Given the description of an element on the screen output the (x, y) to click on. 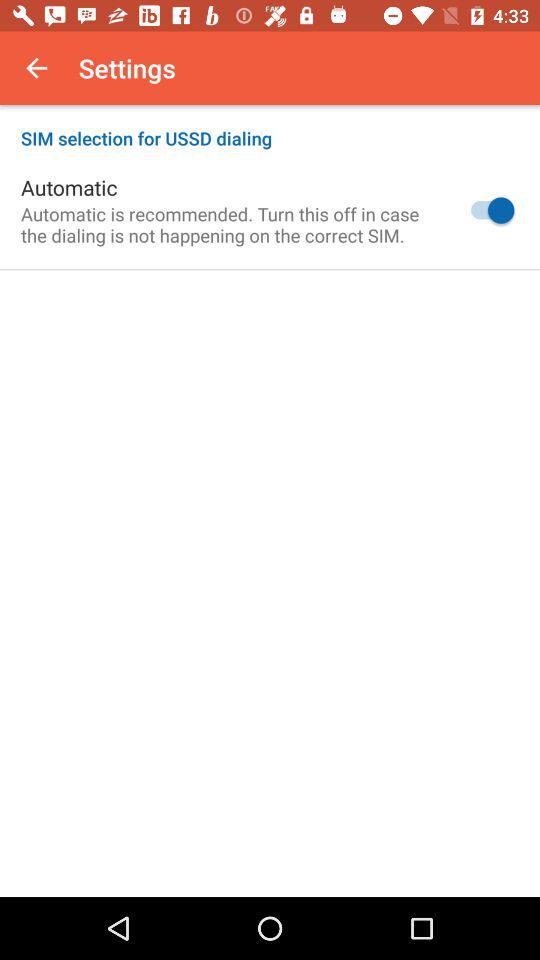
turn on icon to the left of settings item (36, 68)
